Given the description of an element on the screen output the (x, y) to click on. 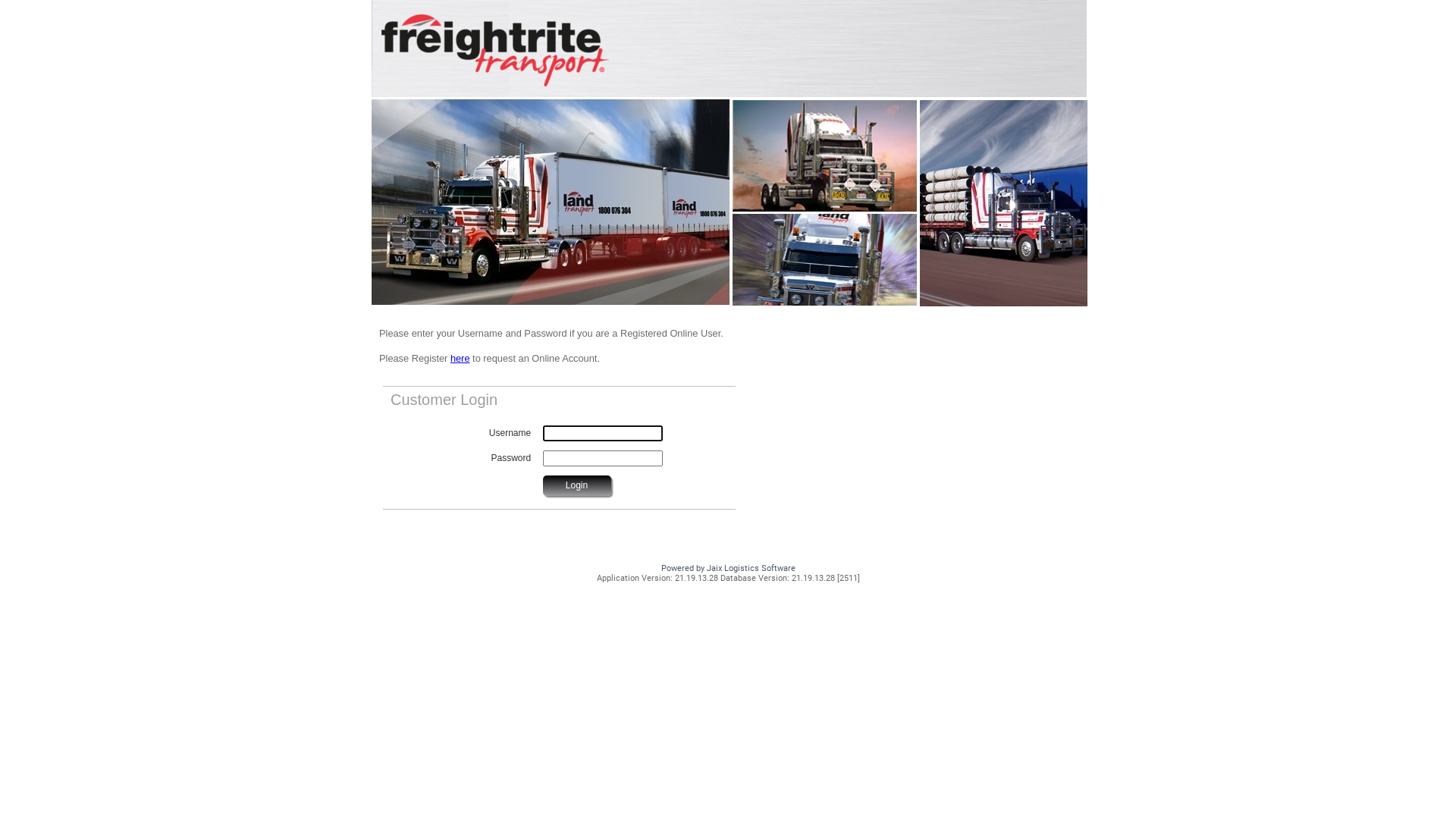
here Element type: text (460, 358)
